Given the description of an element on the screen output the (x, y) to click on. 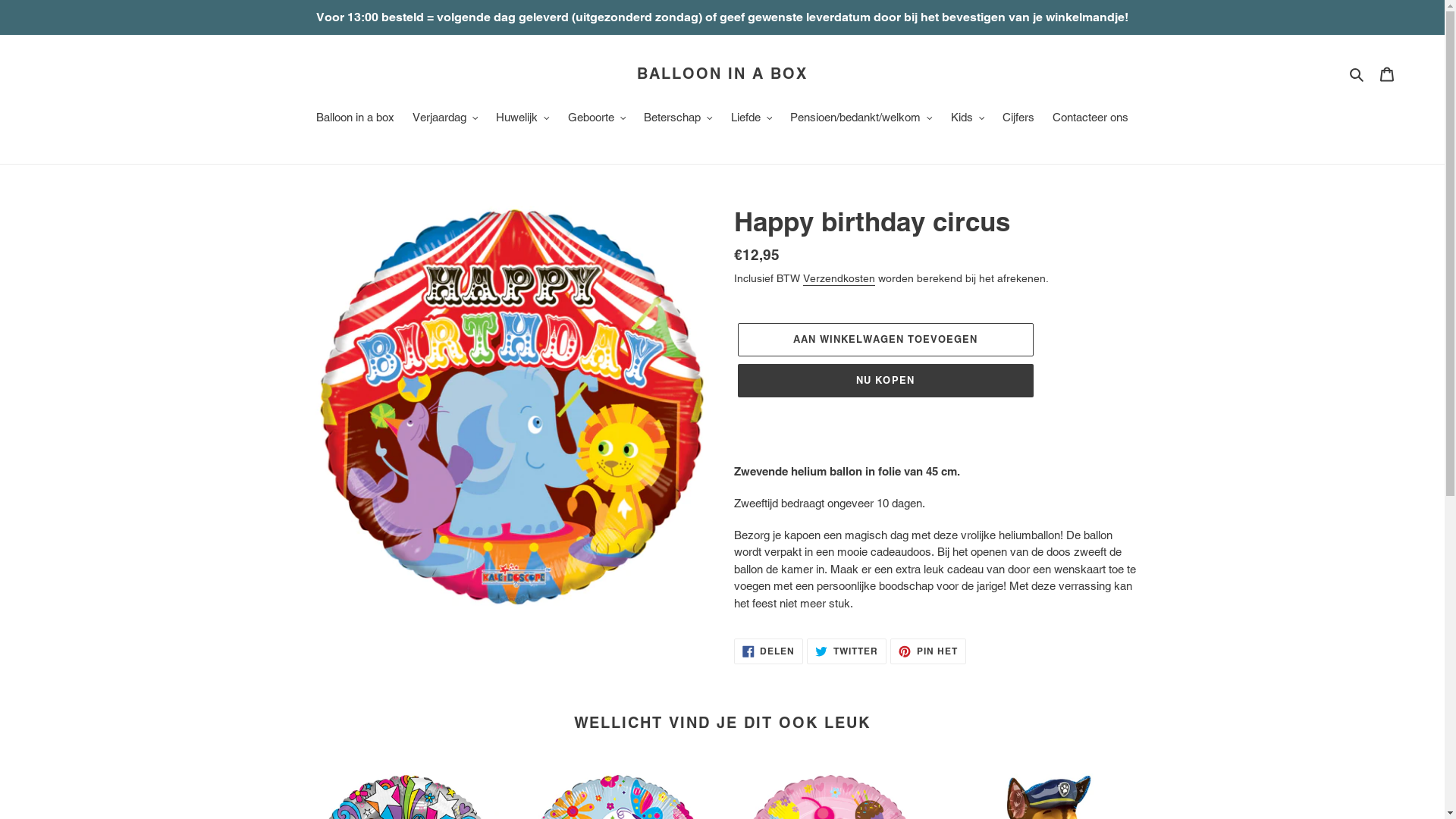
Kids Element type: text (967, 118)
AAN WINKELWAGEN TOEVOEGEN Element type: text (884, 339)
DELEN
DELEN OP FACEBOOK Element type: text (768, 651)
Winkelwagen Element type: text (1386, 73)
TWITTER
TWITTEREN OP TWITTER Element type: text (846, 651)
Balloon in a box Element type: text (354, 118)
Verjaardag Element type: text (445, 118)
Contacteer ons Element type: text (1089, 118)
Geboorte Element type: text (596, 118)
Liefde Element type: text (751, 118)
Pensioen/bedankt/welkom Element type: text (861, 118)
Beterschap Element type: text (678, 118)
Verzendkosten Element type: text (838, 278)
NU KOPEN Element type: text (884, 380)
BALLOON IN A BOX Element type: text (722, 73)
Huwelijk Element type: text (522, 118)
PIN HET
PINNEN OP PINTEREST Element type: text (928, 651)
Cijfers Element type: text (1017, 118)
Zoeken Element type: text (1357, 73)
